Given the description of an element on the screen output the (x, y) to click on. 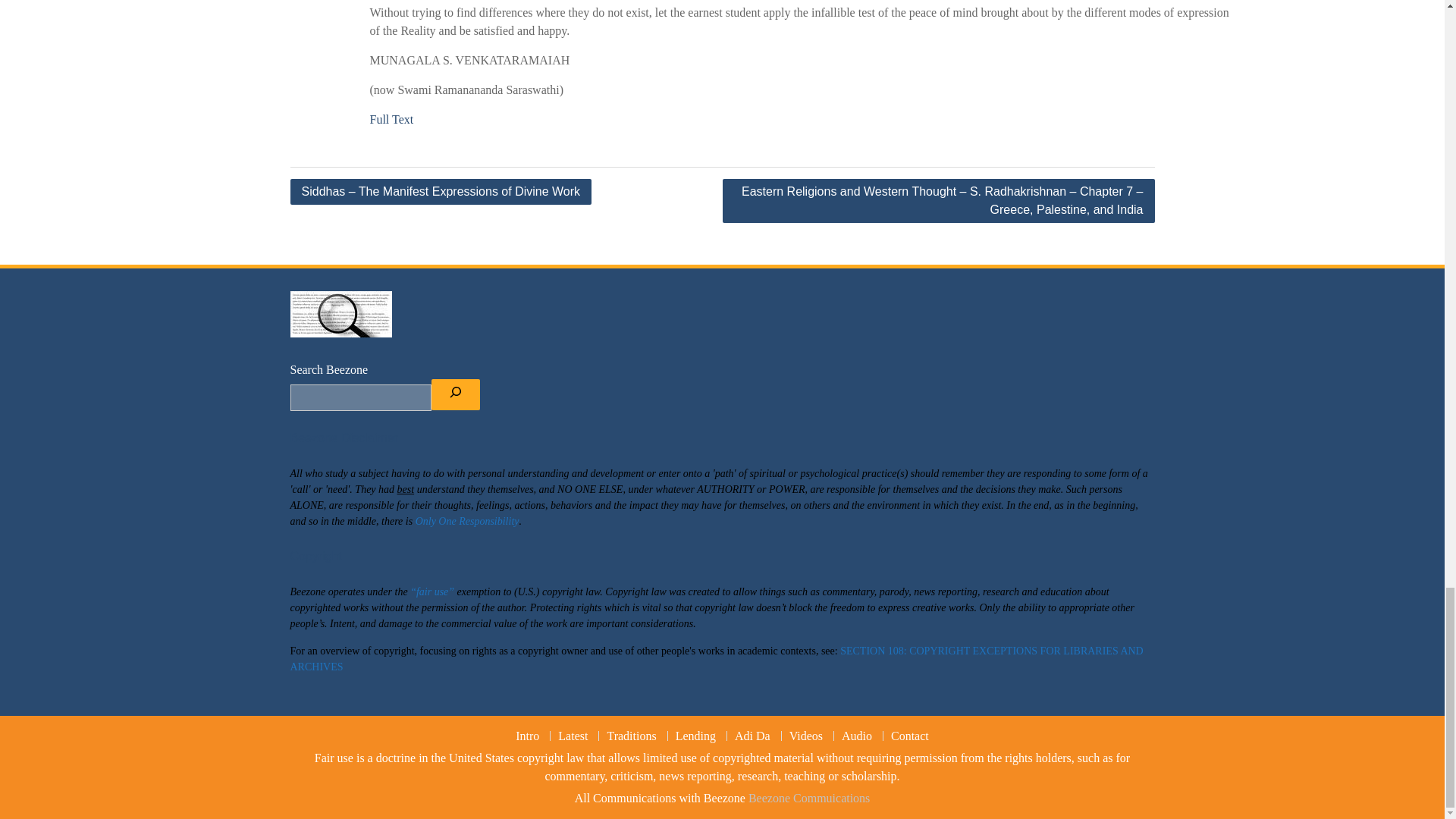
Adi Da (751, 736)
Lending (694, 736)
SECTION 108: COPYRIGHT EXCEPTIONS FOR LIBRARIES AND ARCHIVES (715, 658)
Videos (804, 736)
Beezone Commuications (808, 797)
Full Text (391, 119)
Only One Responsibility (466, 521)
Contact (909, 736)
Audio (855, 736)
Latest (572, 736)
Intro (527, 736)
Traditions (630, 736)
